Given the description of an element on the screen output the (x, y) to click on. 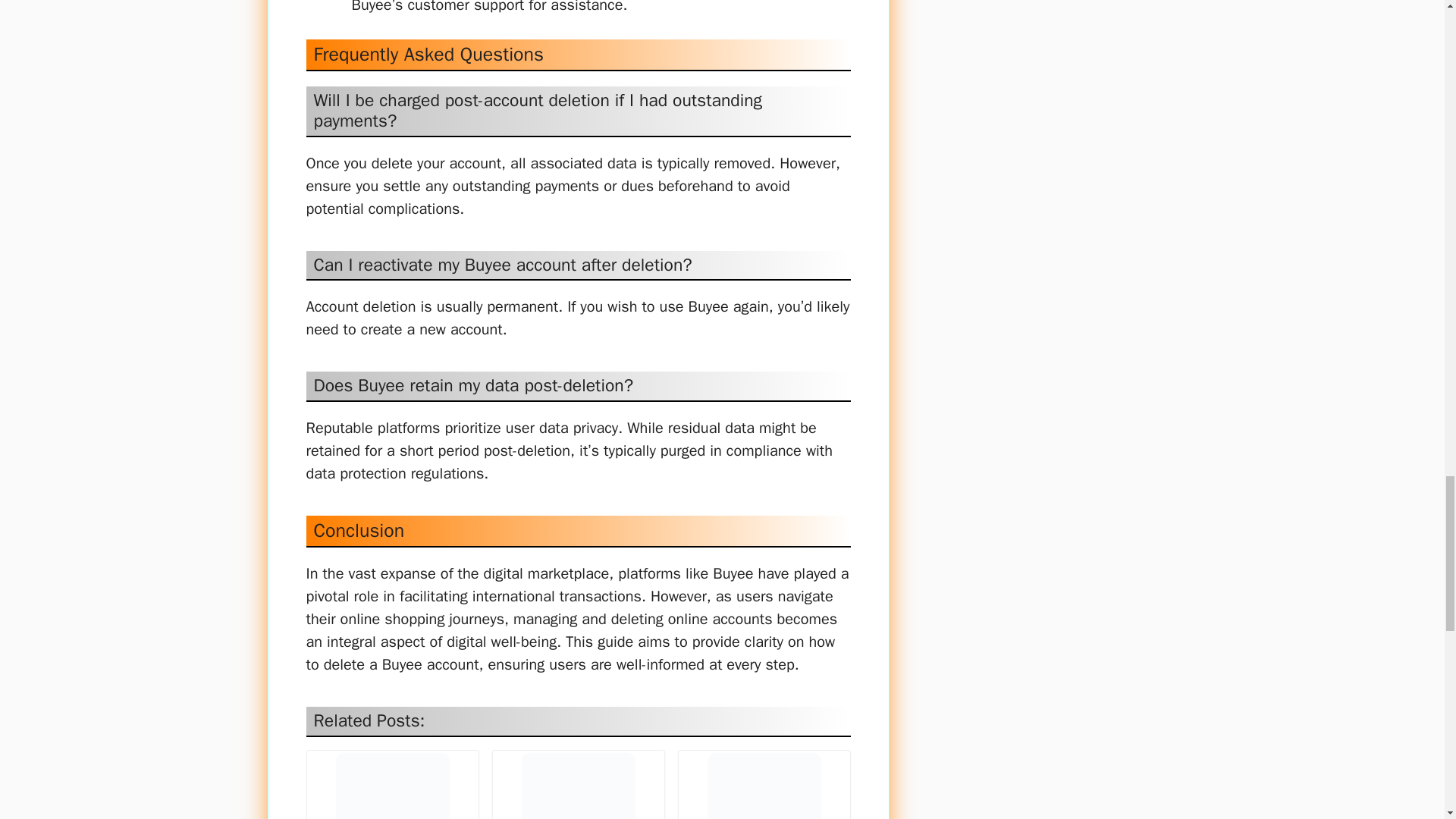
How to Delete Klover Account (764, 785)
Did My Spotify Account Get Deleted (392, 785)
Did My Spotify Account Get Deleted (391, 785)
Can't Delete Bank Account from PayPal (578, 785)
